Given the description of an element on the screen output the (x, y) to click on. 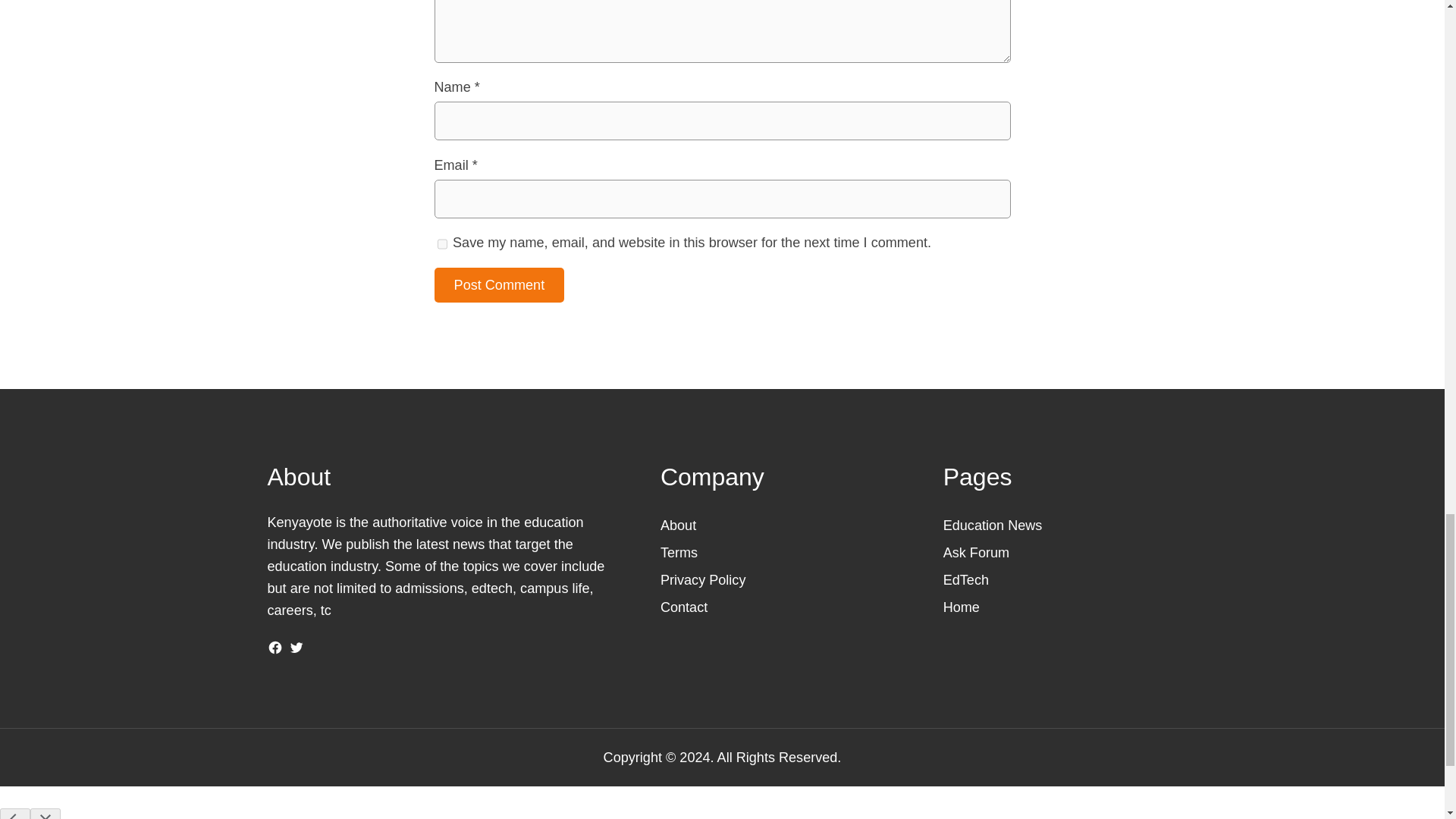
EdTech (965, 580)
Education News (992, 525)
Contact (684, 607)
Terms (679, 552)
Home (961, 607)
About (678, 525)
Ask Forum (976, 552)
Post Comment (498, 284)
Facebook (274, 647)
Twitter (295, 647)
